Given the description of an element on the screen output the (x, y) to click on. 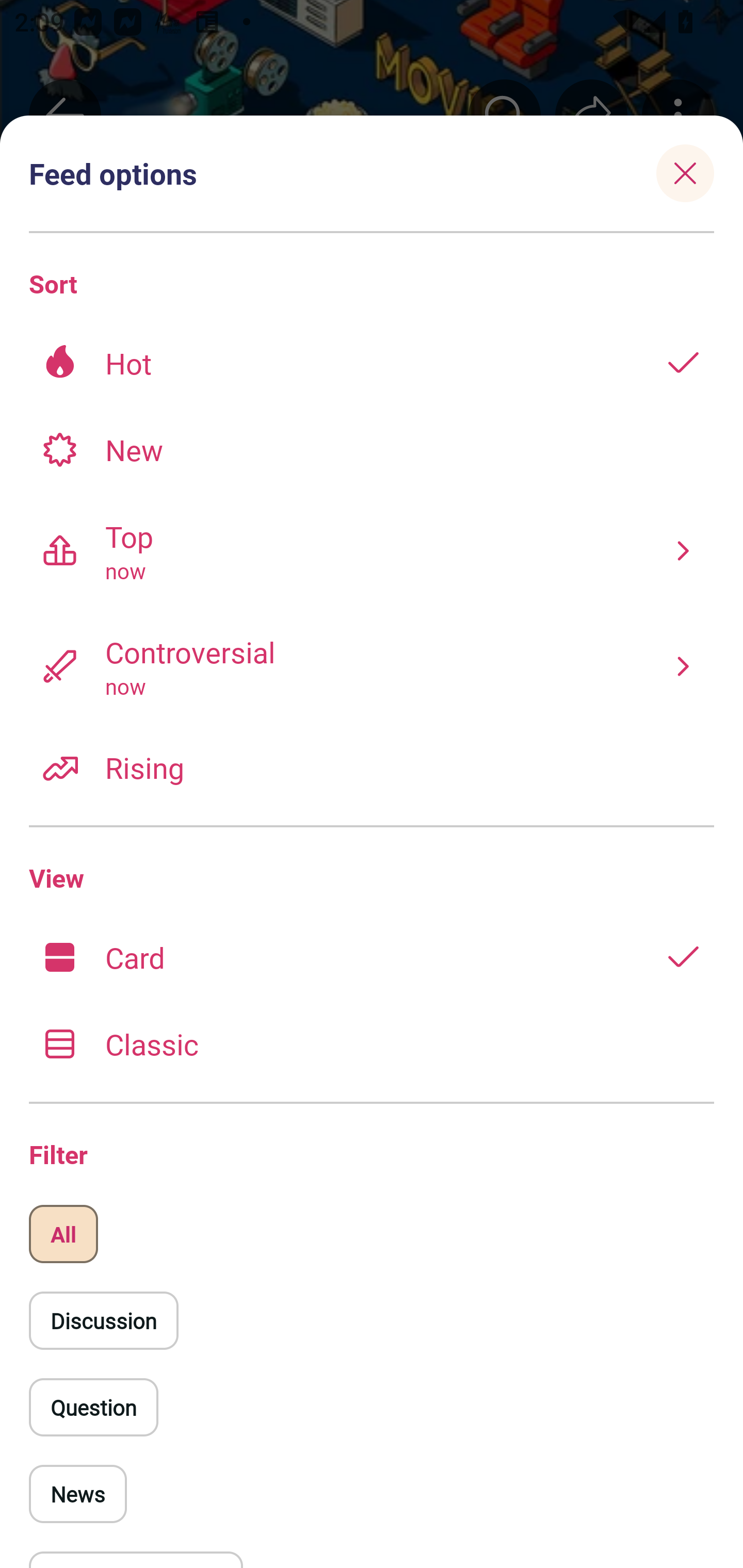
Close sheet (684, 173)
Hot (371, 362)
New (371, 449)
Top now (371, 550)
Controversial now (371, 666)
Card (371, 957)
Classic (371, 1043)
All (63, 1233)
Discussion (103, 1320)
Question (93, 1407)
News (77, 1493)
